Given the description of an element on the screen output the (x, y) to click on. 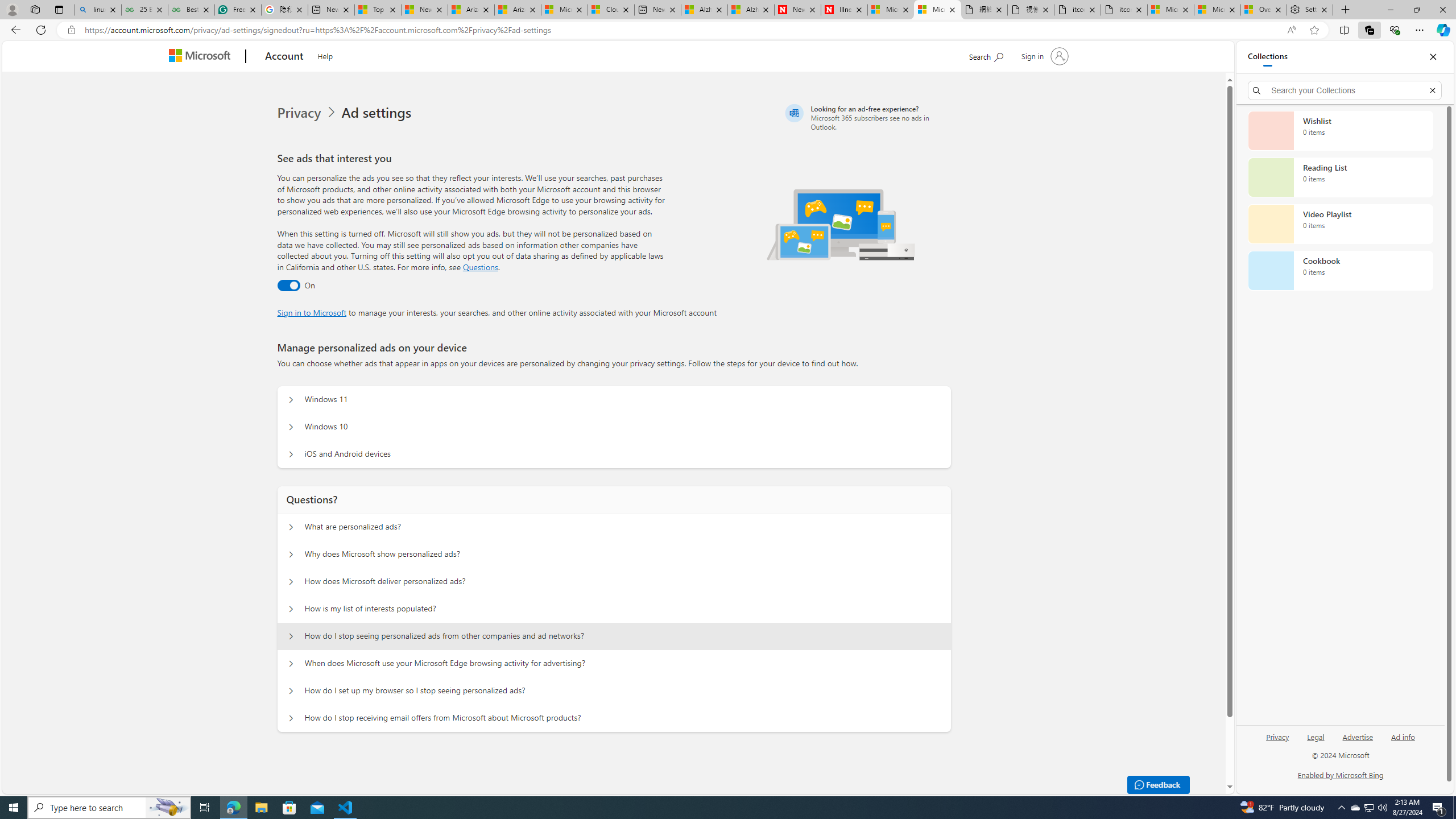
Looking for an ad-free experience? (865, 117)
Cookbook collection, 0 items (1339, 270)
Sign in to your account (1043, 55)
Questions? How does Microsoft deliver personalized ads? (290, 581)
Overview (1263, 9)
Best SSL Certificates Provider in India - GeeksforGeeks (191, 9)
